Given the description of an element on the screen output the (x, y) to click on. 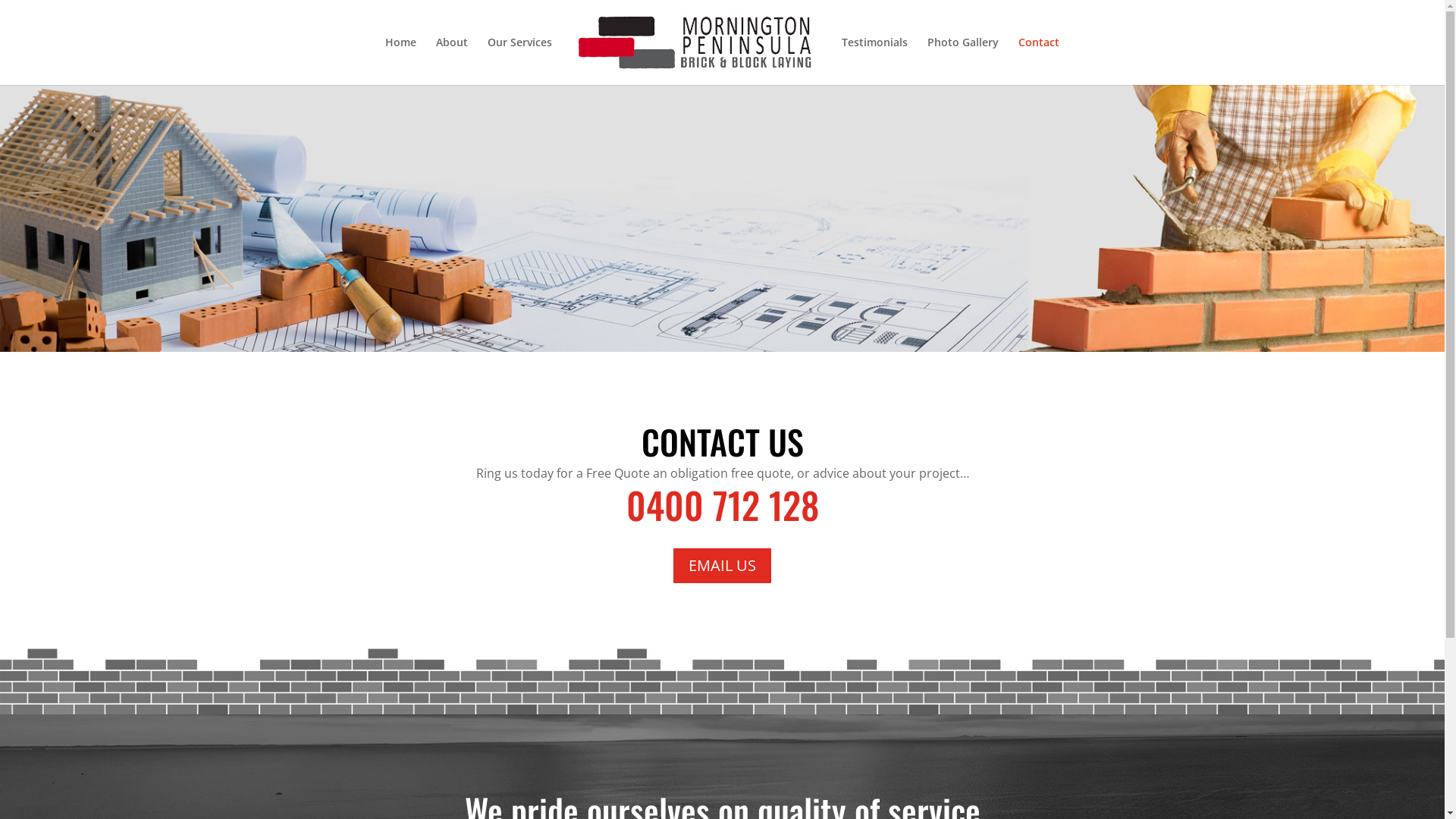
Our Services Element type: text (519, 60)
EMAIL US Element type: text (721, 565)
Testimonials Element type: text (874, 60)
Home Element type: text (400, 60)
About Element type: text (451, 60)
Contact Element type: text (1038, 60)
Photo Gallery Element type: text (962, 60)
